Given the description of an element on the screen output the (x, y) to click on. 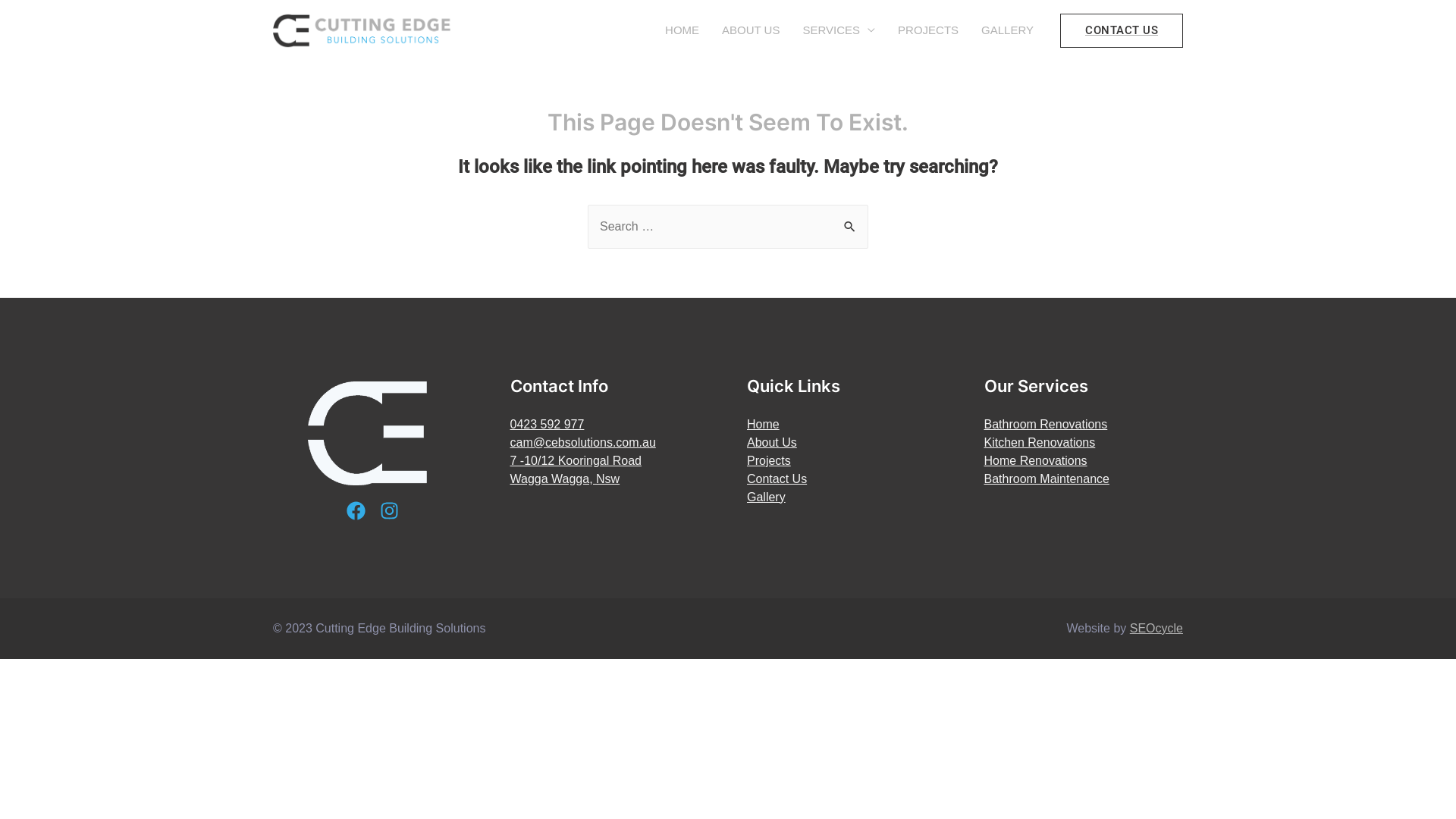
GALLERY Element type: text (1006, 29)
Home Renovations Element type: text (1035, 460)
SERVICES Element type: text (838, 29)
0423 592 977 Element type: text (546, 423)
Bathroom Renovations Element type: text (1045, 423)
HOME Element type: text (681, 29)
About Us Element type: text (771, 442)
cam@cebsolutions.com.au Element type: text (582, 442)
ABOUT US Element type: text (750, 29)
Bathroom Maintenance Element type: text (1046, 478)
Search Element type: text (851, 219)
SEOcycle Element type: text (1156, 627)
Gallery Element type: text (765, 496)
7 -10/12 Kooringal Road
Wagga Wagga, Nsw Element type: text (574, 469)
PROJECTS Element type: text (927, 29)
Home Element type: text (762, 423)
CONTACT US Element type: text (1121, 30)
Projects Element type: text (768, 460)
Contact Us Element type: text (776, 478)
Kitchen Renovations Element type: text (1039, 442)
